Given the description of an element on the screen output the (x, y) to click on. 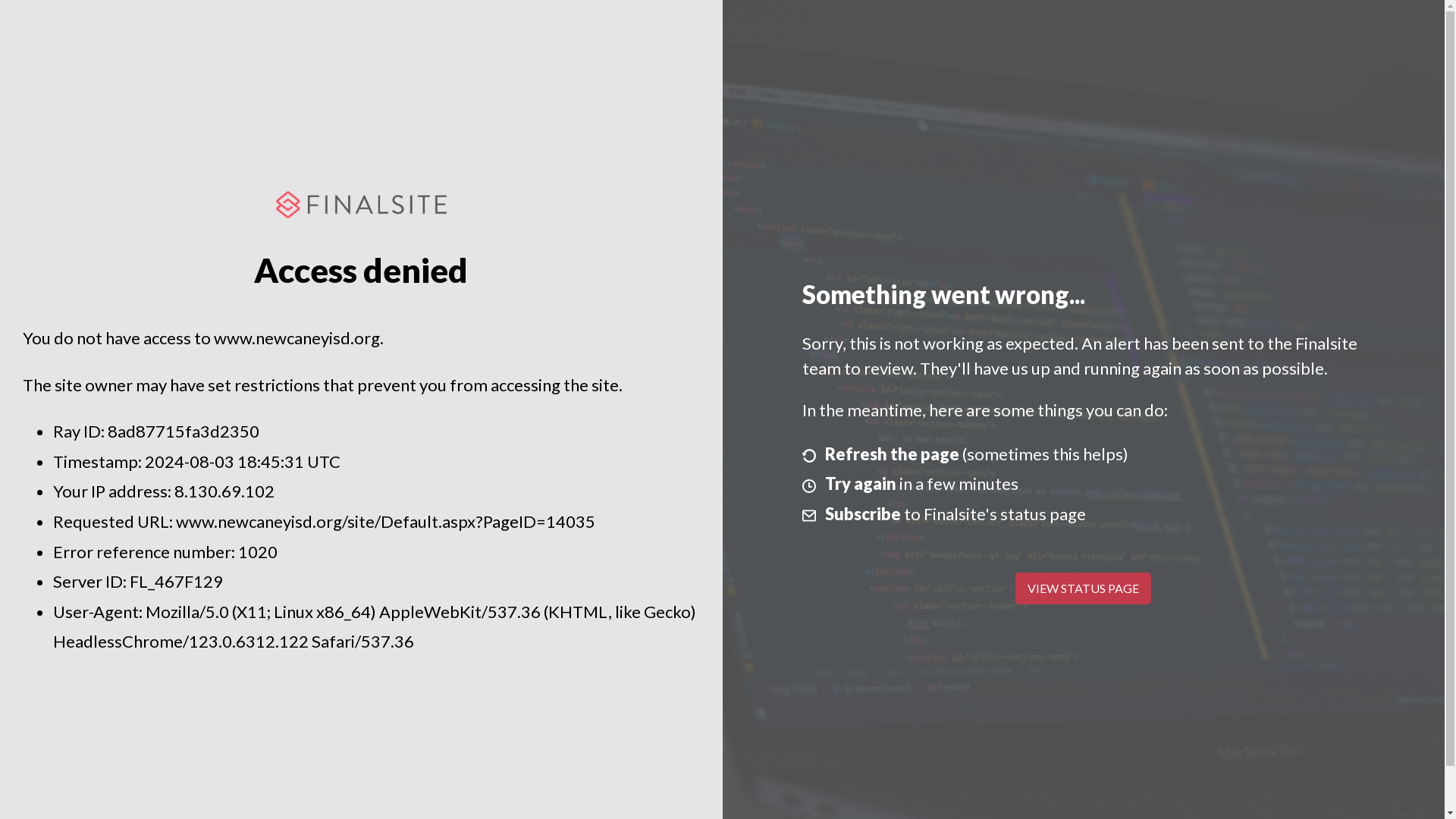
VIEW STATUS PAGE (1082, 588)
